Given the description of an element on the screen output the (x, y) to click on. 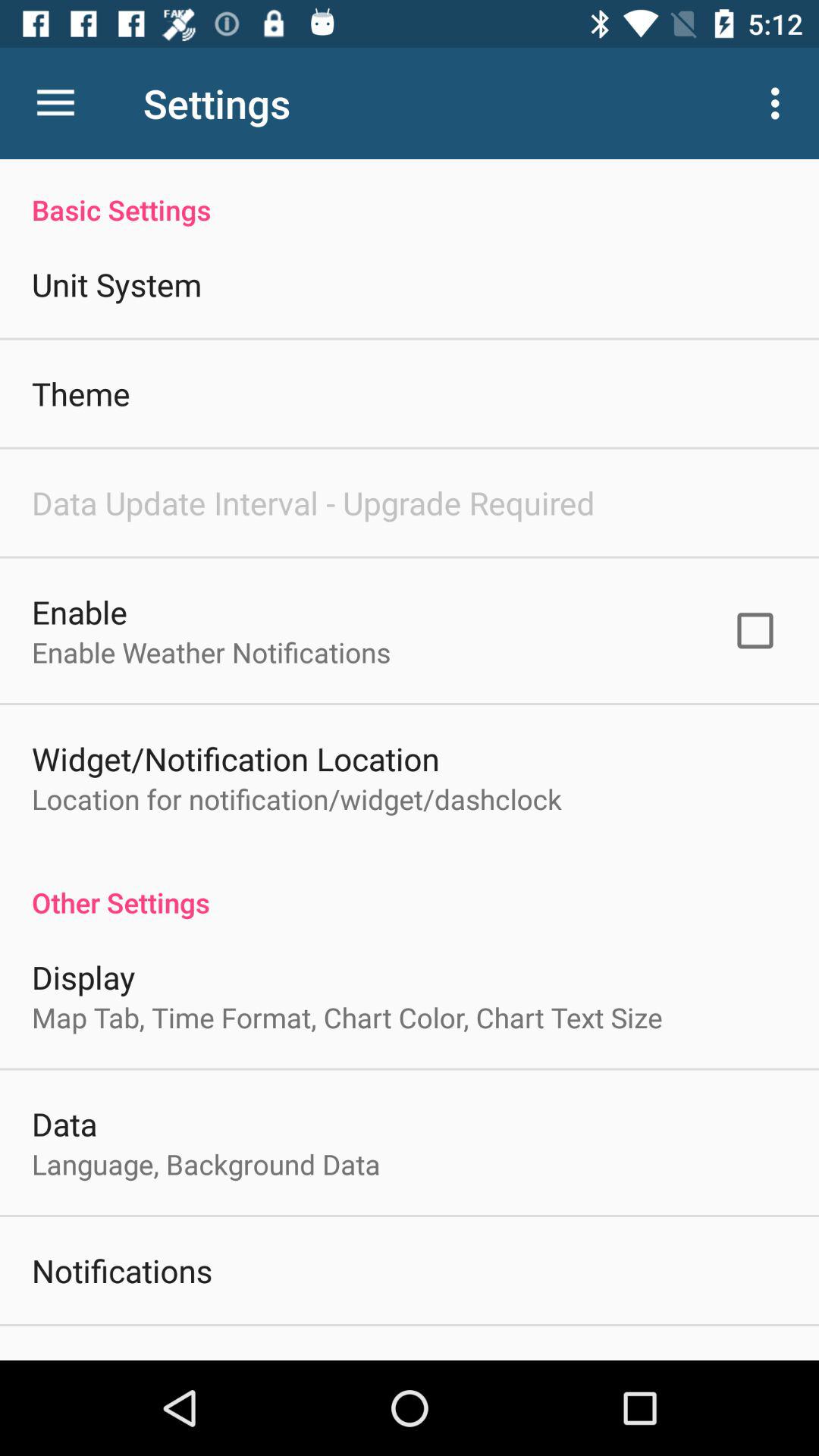
press item above data update interval icon (80, 393)
